Given the description of an element on the screen output the (x, y) to click on. 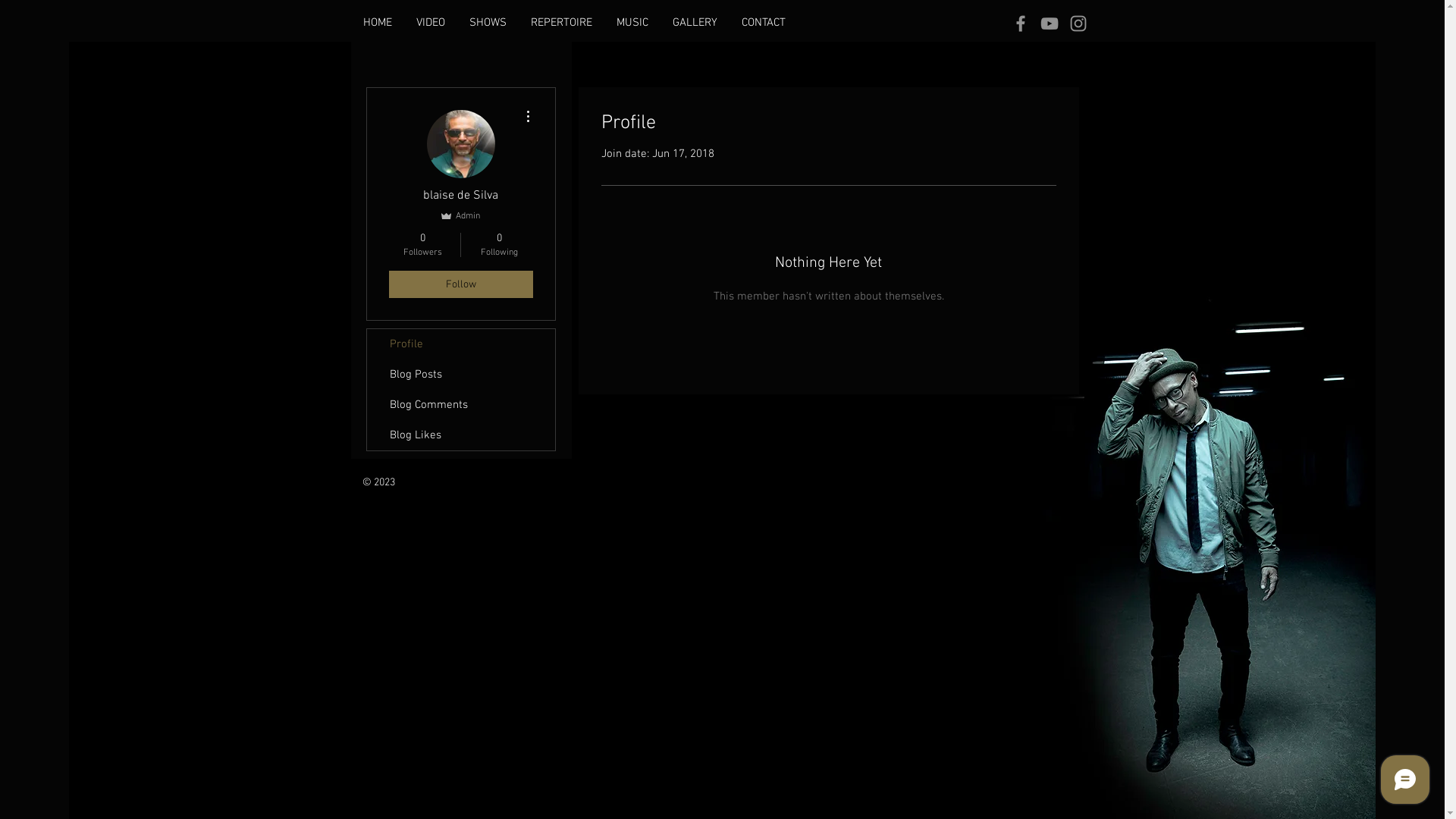
GALLERY Element type: text (693, 22)
Blog Posts Element type: text (461, 374)
Blog Likes Element type: text (461, 435)
MUSIC Element type: text (631, 22)
HOME Element type: text (376, 22)
SHOWS Element type: text (486, 22)
Follow Element type: text (460, 284)
0
Followers Element type: text (421, 244)
Profile Element type: text (461, 344)
0
Following Element type: text (499, 244)
VIDEO Element type: text (429, 22)
CONTACT Element type: text (763, 22)
REPERTOIRE Element type: text (561, 22)
Blog Comments Element type: text (461, 404)
